Given the description of an element on the screen output the (x, y) to click on. 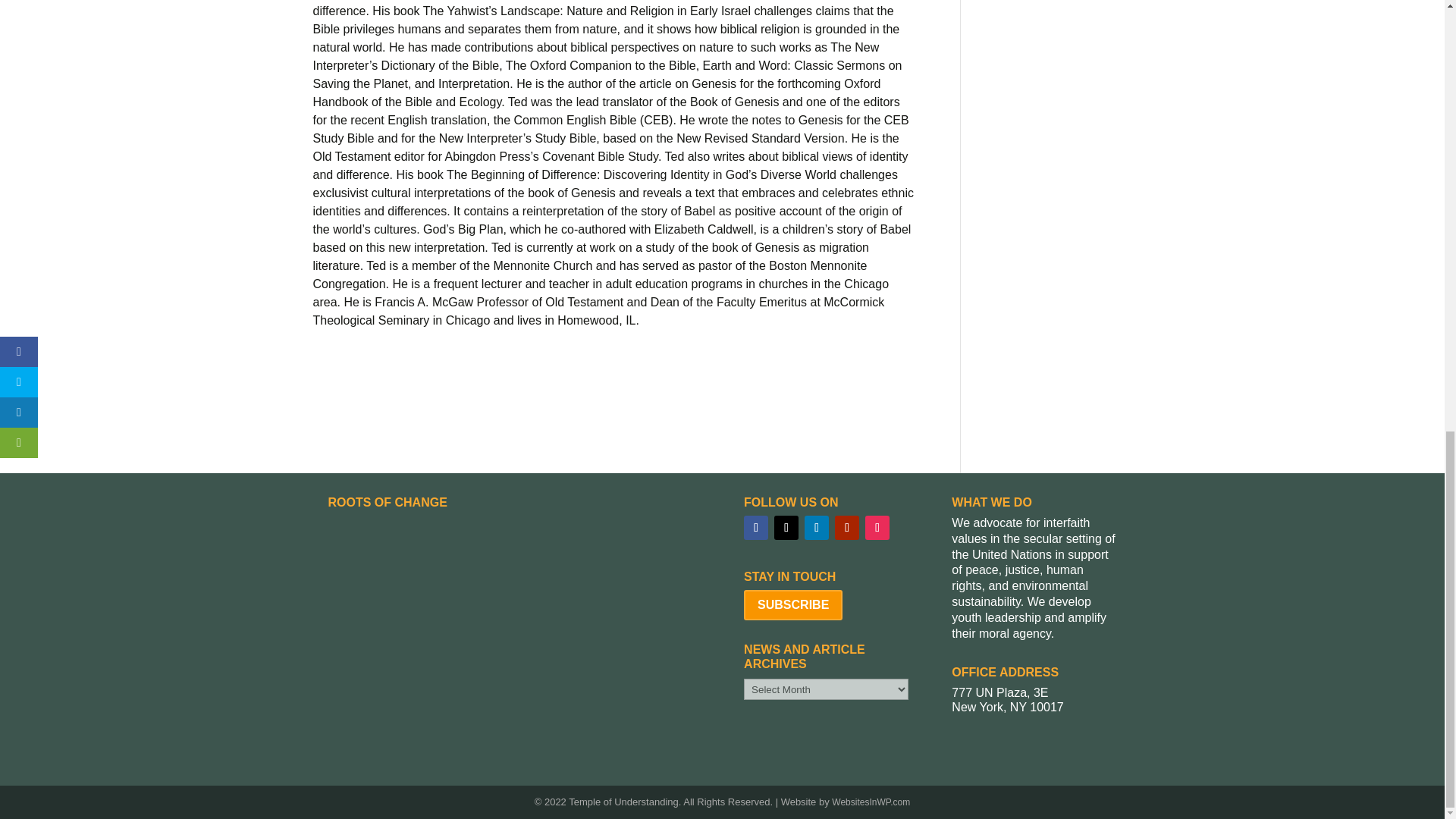
Follow on Youtube (846, 527)
Follow on Facebook (756, 527)
Roots of Change: Food Sovereignty, Women, and Eco-Justice (513, 620)
Follow on X (785, 527)
Follow on Instagram (876, 527)
Follow on LinkedIn (816, 527)
